Given the description of an element on the screen output the (x, y) to click on. 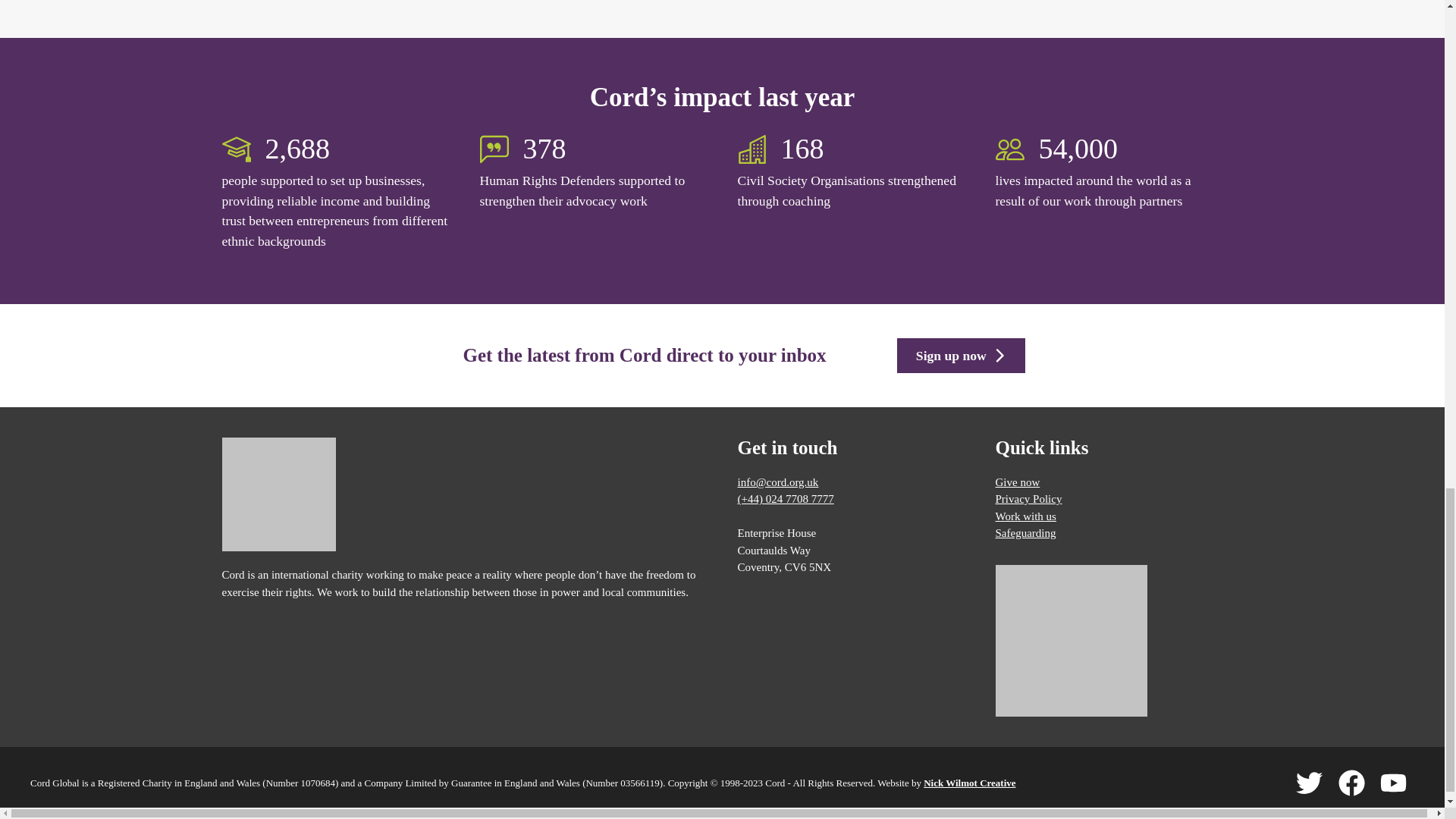
Sign up now (960, 355)
Work with us (1024, 516)
Safeguarding (1024, 532)
Privacy Policy (1027, 499)
Give now (1016, 481)
